Given the description of an element on the screen output the (x, y) to click on. 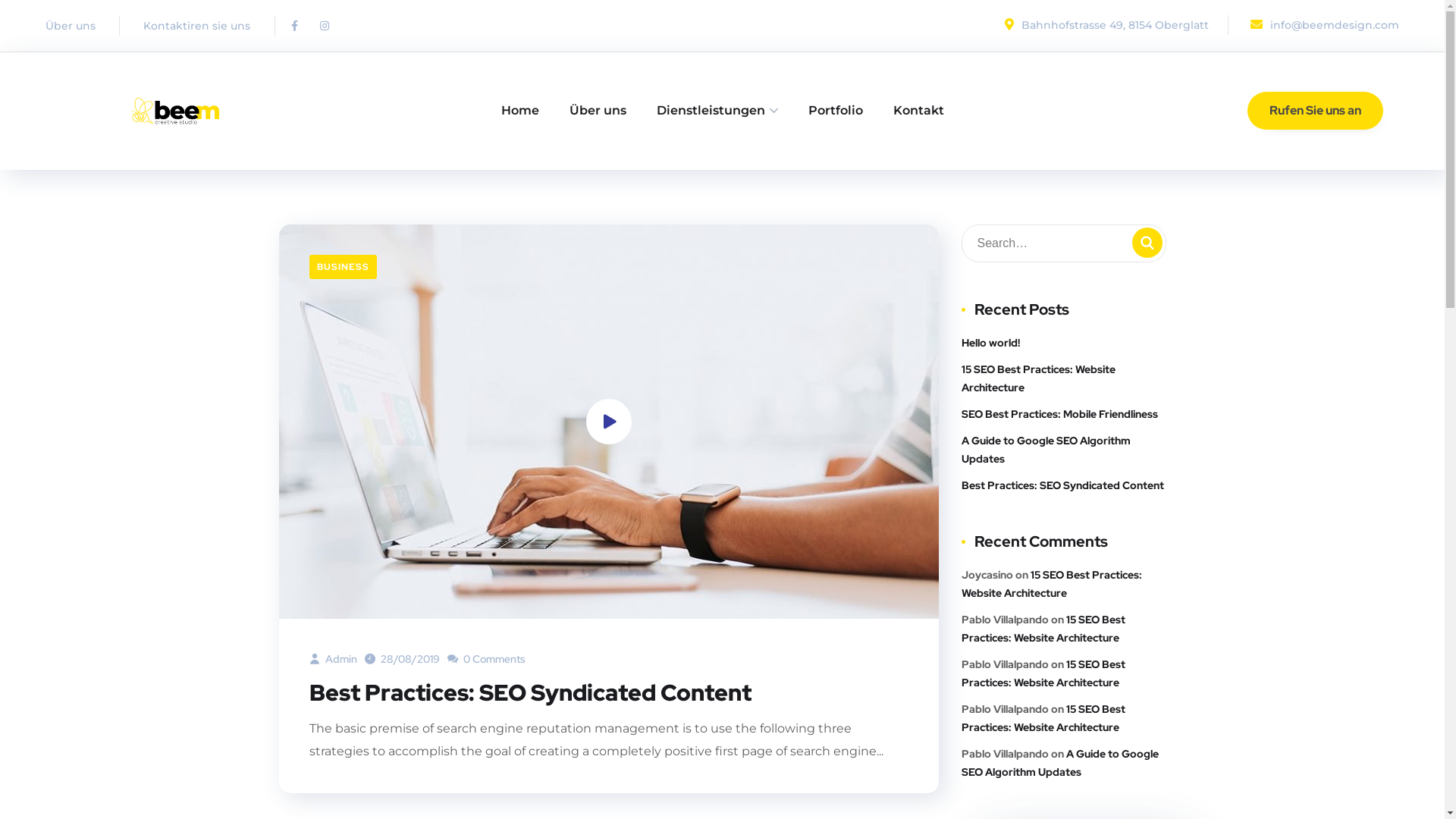
Hello world! Element type: text (990, 342)
Best Practices: SEO Syndicated Content Element type: text (1062, 485)
Dienstleistungen Element type: text (717, 109)
Portfolio Element type: text (835, 109)
Kontaktiren sie uns Element type: text (196, 25)
15 SEO Best Practices: Website Architecture Element type: text (1051, 583)
Rufen Sie uns an Element type: text (1315, 110)
0 Comments Element type: text (486, 658)
A Guide to Google SEO Algorithm Updates Element type: text (1059, 762)
Best Practices: SEO Syndicated Content Element type: text (530, 692)
15 SEO Best Practices: Website Architecture Element type: text (1043, 718)
15 SEO Best Practices: Website Architecture Element type: text (1043, 628)
info@beemdesign.com Element type: text (1323, 24)
Home Element type: text (519, 109)
Admin Element type: text (333, 658)
28/08/2019 Element type: text (401, 658)
15 SEO Best Practices: Website Architecture Element type: text (1063, 377)
Bahnhofstrasse 49, 8154 Oberglatt Element type: text (1103, 24)
Kontakt Element type: text (918, 109)
15 SEO Best Practices: Website Architecture Element type: text (1043, 672)
SEO Best Practices: Mobile Friendliness Element type: text (1059, 413)
BUSINESS Element type: text (342, 266)
A Guide to Google SEO Algorithm Updates Element type: text (1063, 448)
